Given the description of an element on the screen output the (x, y) to click on. 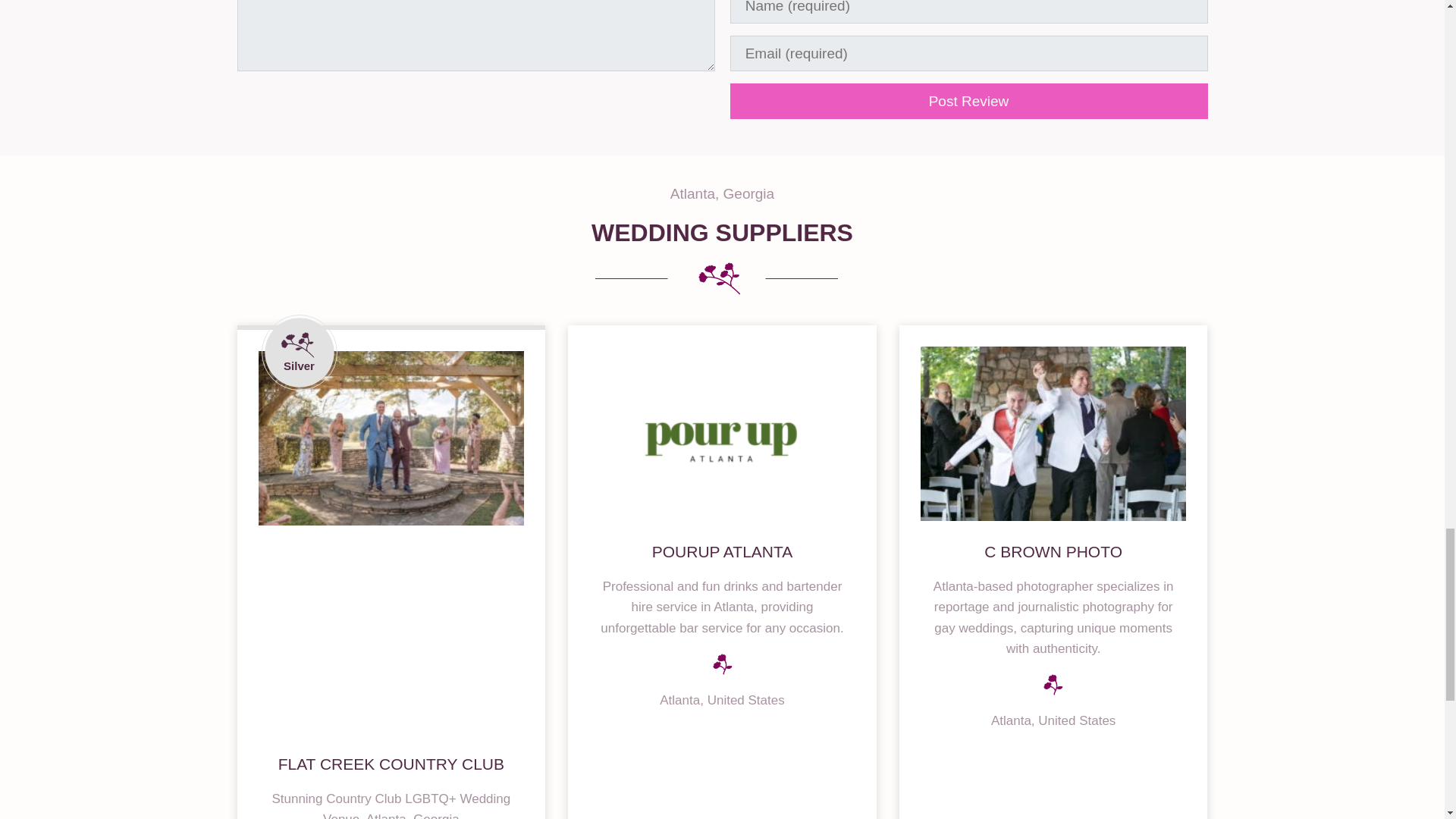
Post Review (968, 100)
View: Flat Creek Country Club (390, 764)
View: Pourup Atlanta (722, 551)
